Given the description of an element on the screen output the (x, y) to click on. 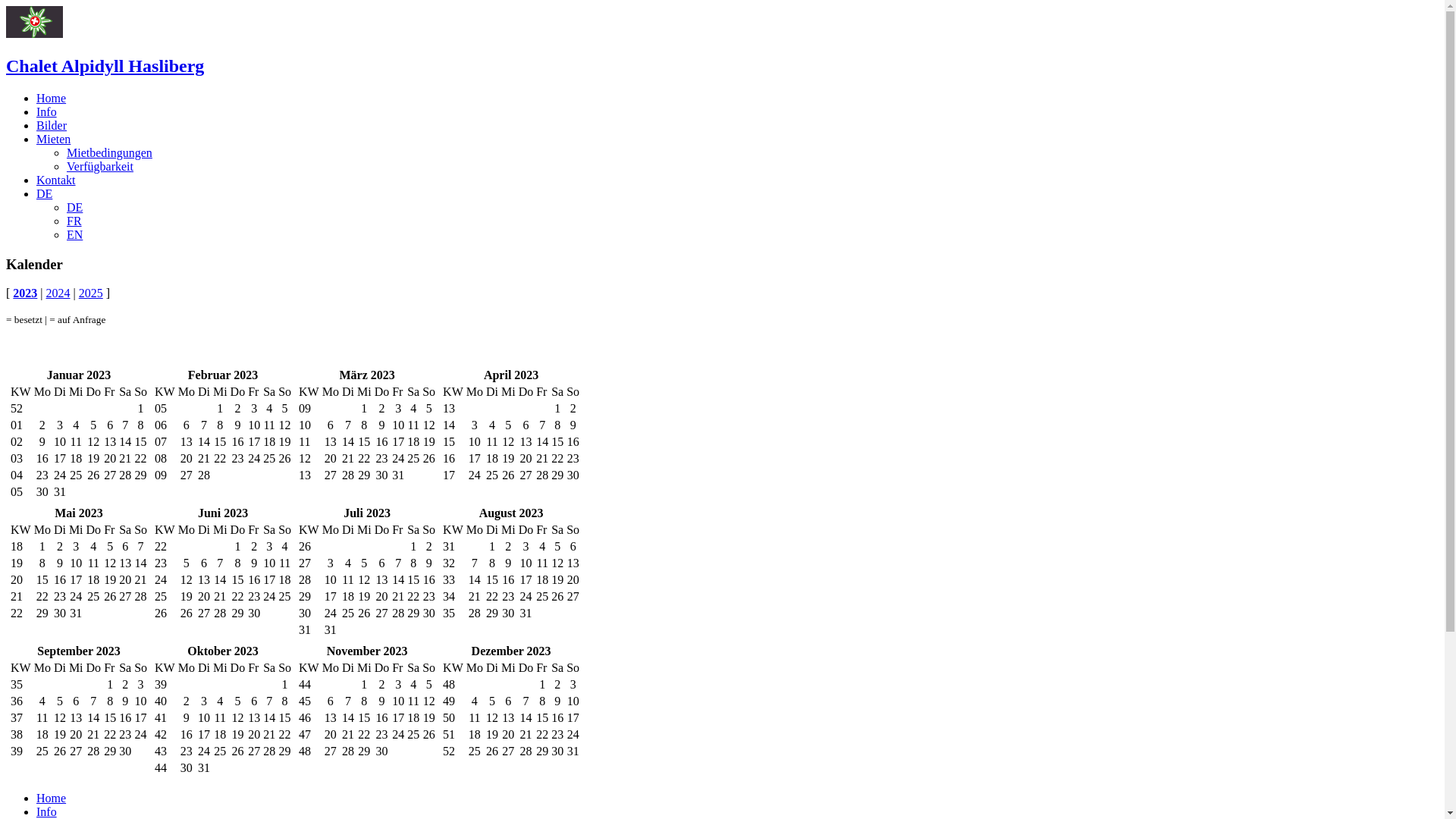
2024 Element type: text (58, 292)
Info Element type: text (46, 811)
Bilder Element type: text (51, 125)
Chalet Alpidyll Hasliberg Element type: text (104, 65)
Home Element type: text (50, 97)
Info Element type: text (46, 111)
EN Element type: text (74, 234)
Mietbedingungen Element type: text (109, 152)
2023 Element type: text (24, 292)
FR Element type: text (73, 220)
DE Element type: text (44, 193)
Kontakt Element type: text (55, 179)
Home Element type: text (50, 797)
Mieten Element type: text (53, 138)
DE Element type: text (74, 206)
2025 Element type: text (90, 292)
